Given the description of an element on the screen output the (x, y) to click on. 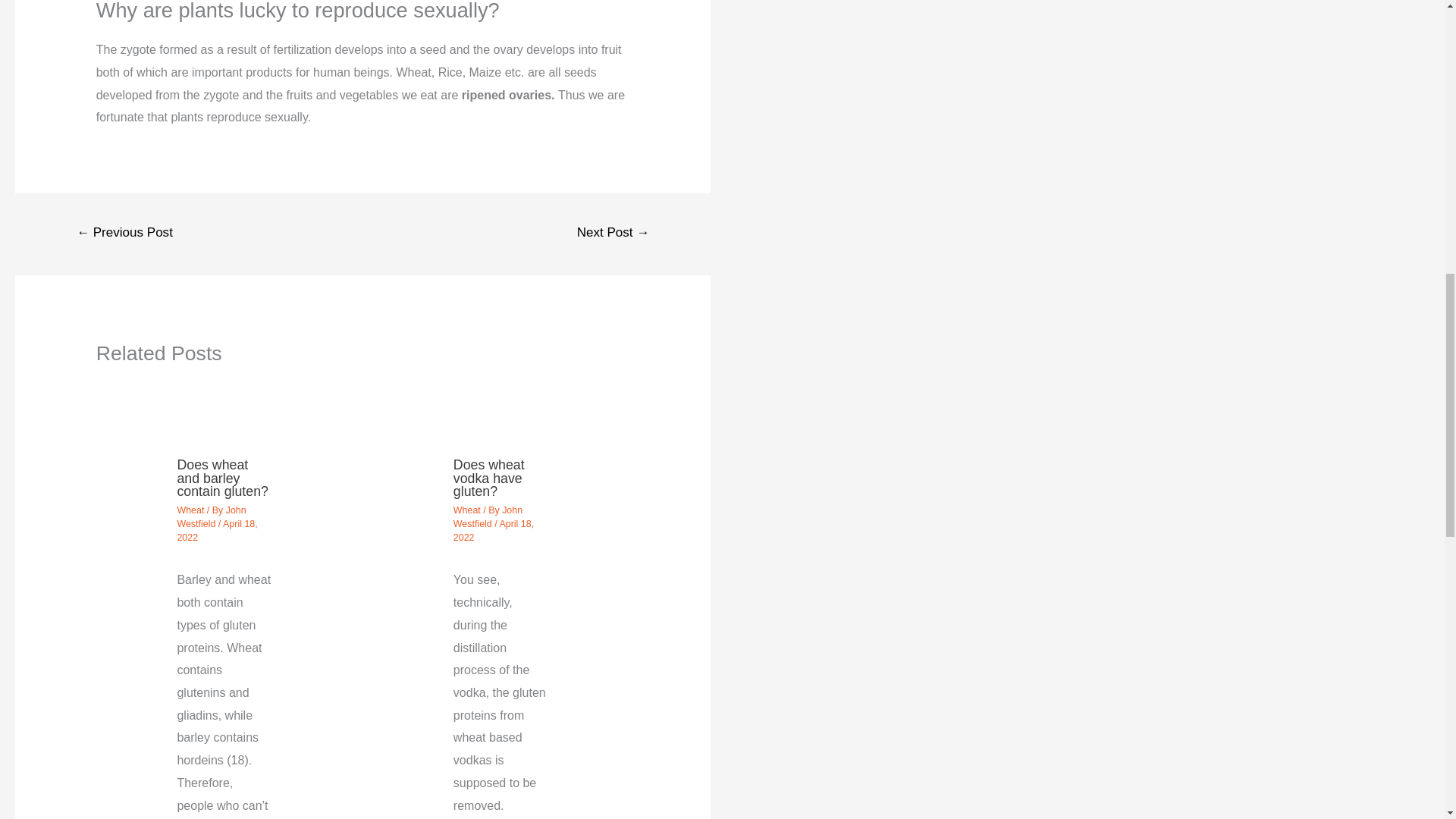
Wheat (466, 510)
View all posts by John Westfield (487, 517)
John Westfield (211, 517)
View all posts by John Westfield (211, 517)
Does wheat and barley contain gluten? (221, 478)
John Westfield (487, 517)
Does wheat vodka have gluten? (488, 478)
Wheat (189, 510)
